Given the description of an element on the screen output the (x, y) to click on. 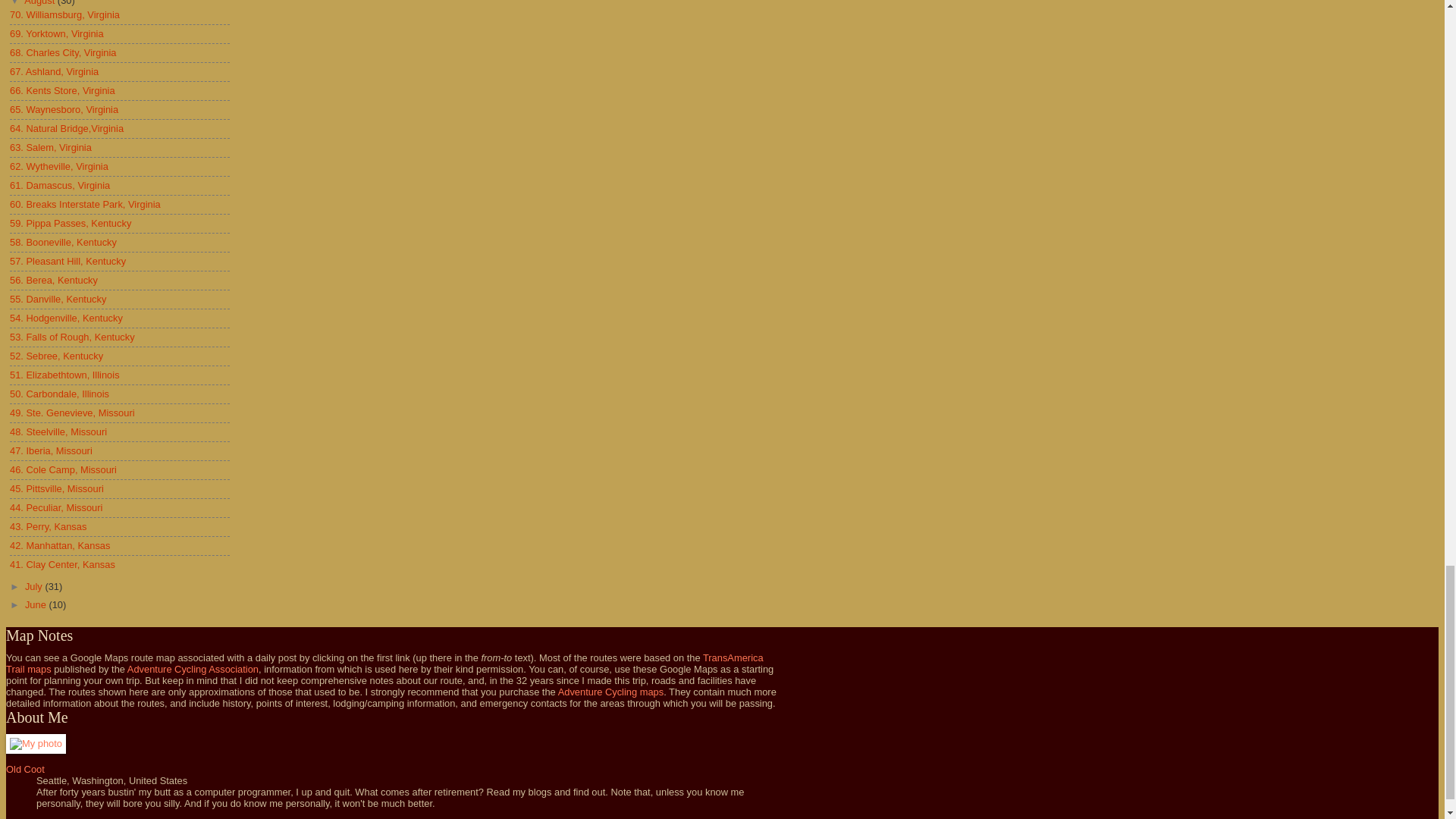
62. Wytheville, Virginia (58, 165)
67. Ashland, Virginia (54, 71)
65. Waynesboro, Virginia (63, 109)
63. Salem, Virginia (50, 147)
August (41, 2)
60. Breaks Interstate Park, Virginia (85, 204)
64. Natural Bridge,Virginia (66, 128)
68. Charles City, Virginia (63, 52)
69. Yorktown, Virginia (56, 33)
70. Williamsburg, Virginia (64, 14)
66. Kents Store, Virginia (62, 90)
61. Damascus, Virginia (60, 184)
